Given the description of an element on the screen output the (x, y) to click on. 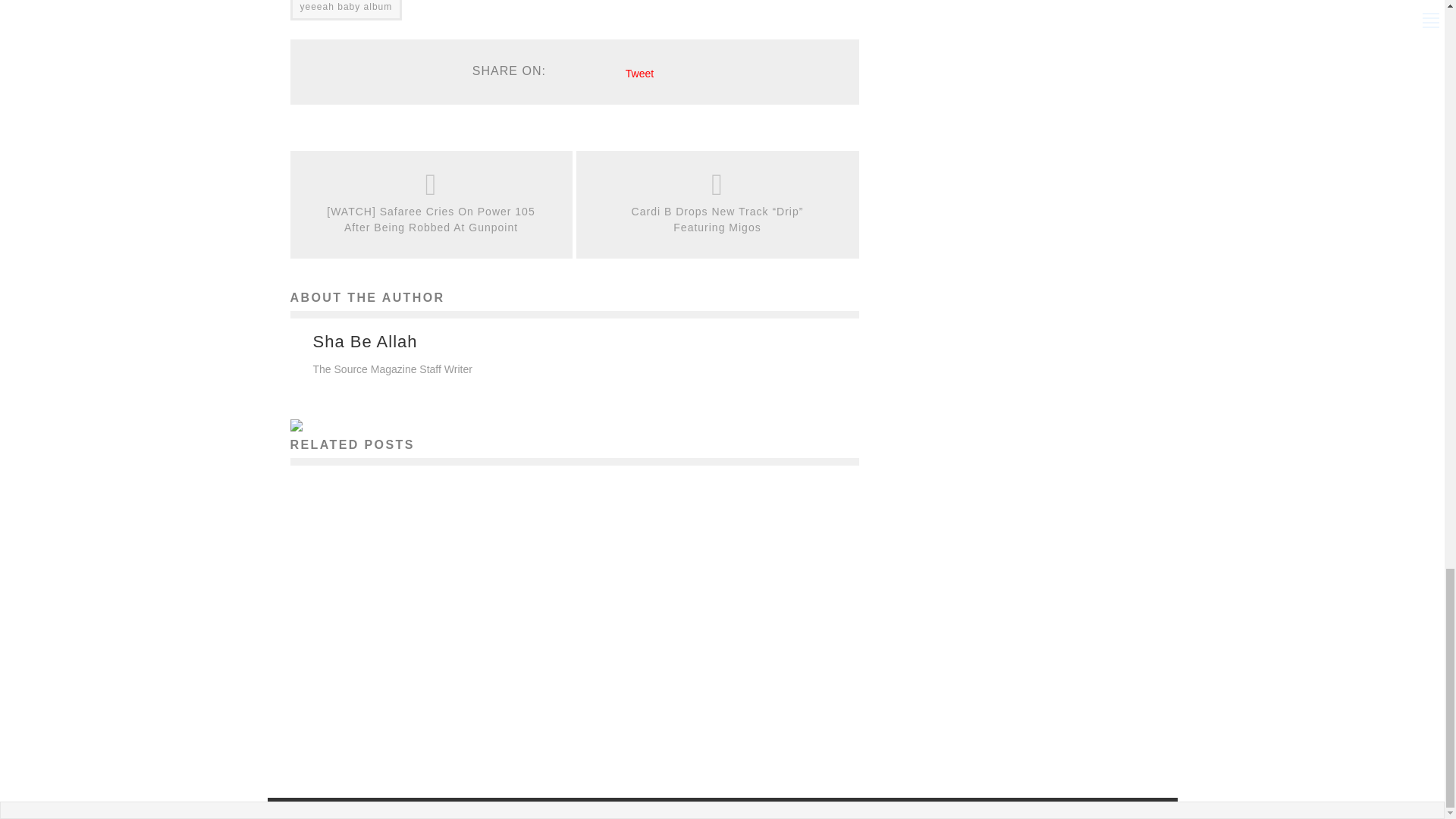
Seegarssmith (387, 732)
yeeeah baby album (345, 10)
Tweet (639, 73)
Sha Be Allah (364, 341)
